Given the description of an element on the screen output the (x, y) to click on. 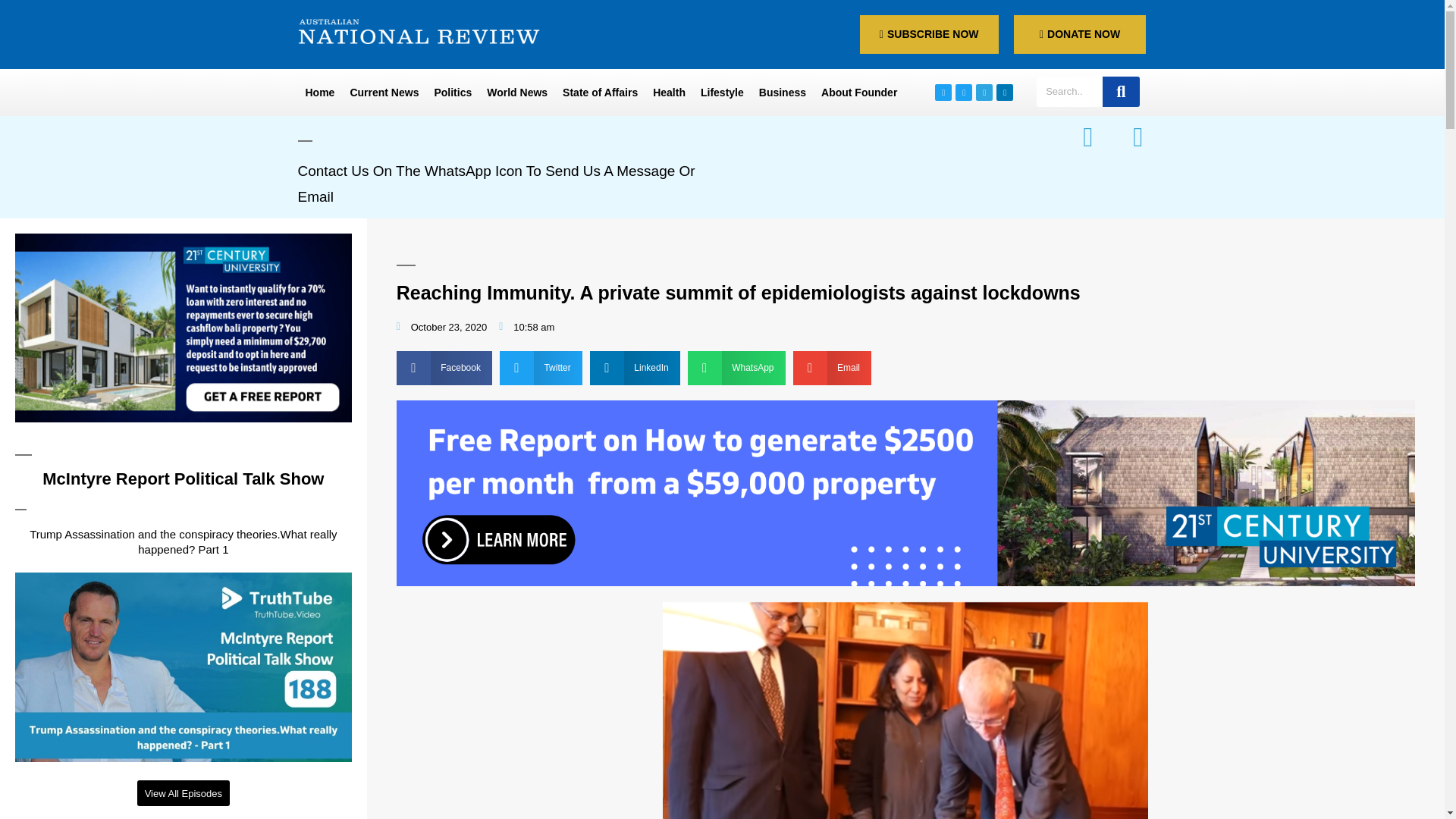
State of Affairs (599, 92)
Politics (452, 92)
SUBSCRIBE NOW (929, 34)
DONATE NOW (1080, 34)
Business (782, 92)
World News (516, 92)
Health (669, 92)
View All Episodes (183, 792)
About Founder (858, 92)
